Given the description of an element on the screen output the (x, y) to click on. 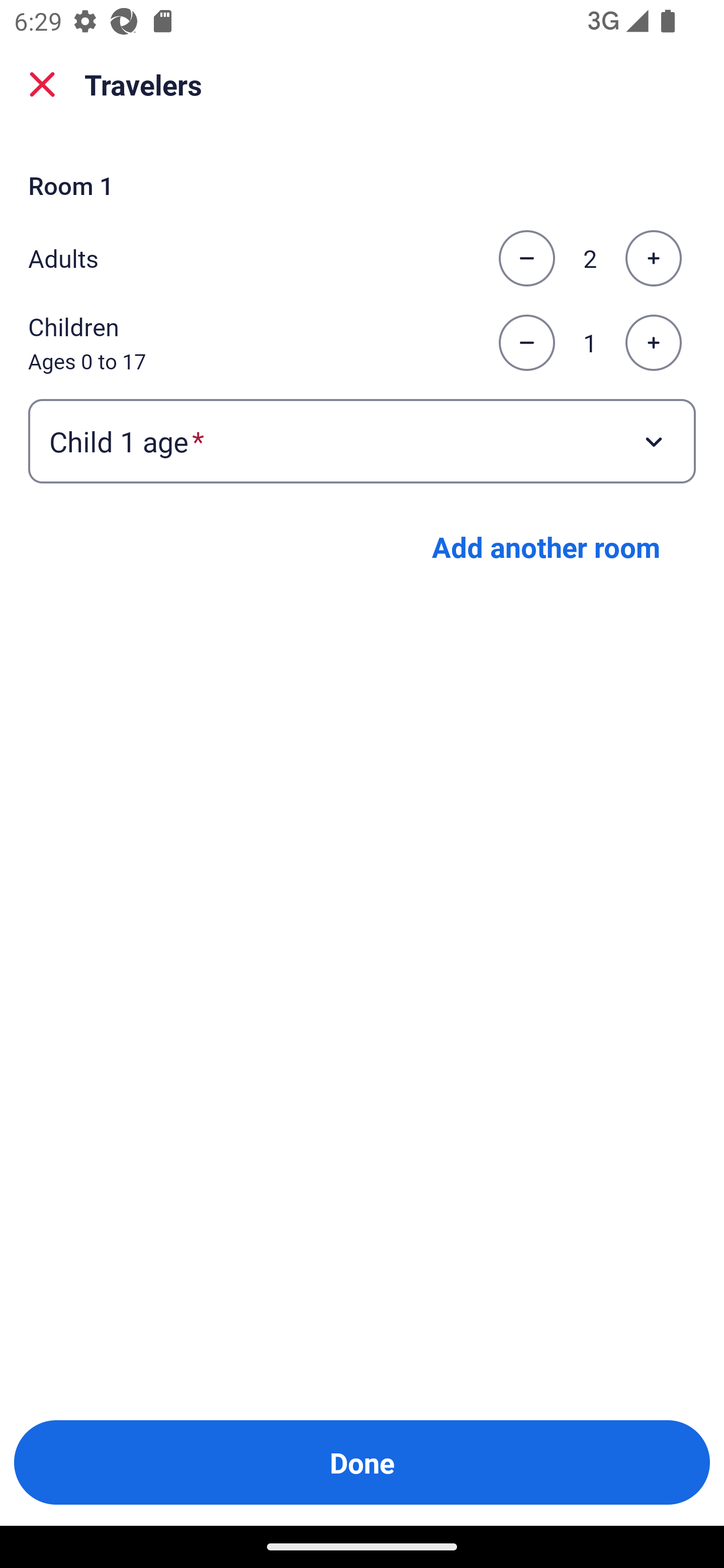
close (42, 84)
Decrease the number of adults (526, 258)
Increase the number of adults (653, 258)
Decrease the number of children (526, 343)
Increase the number of children (653, 343)
Child 1 age required Button (361, 440)
Add another room (545, 546)
Done (361, 1462)
